Given the description of an element on the screen output the (x, y) to click on. 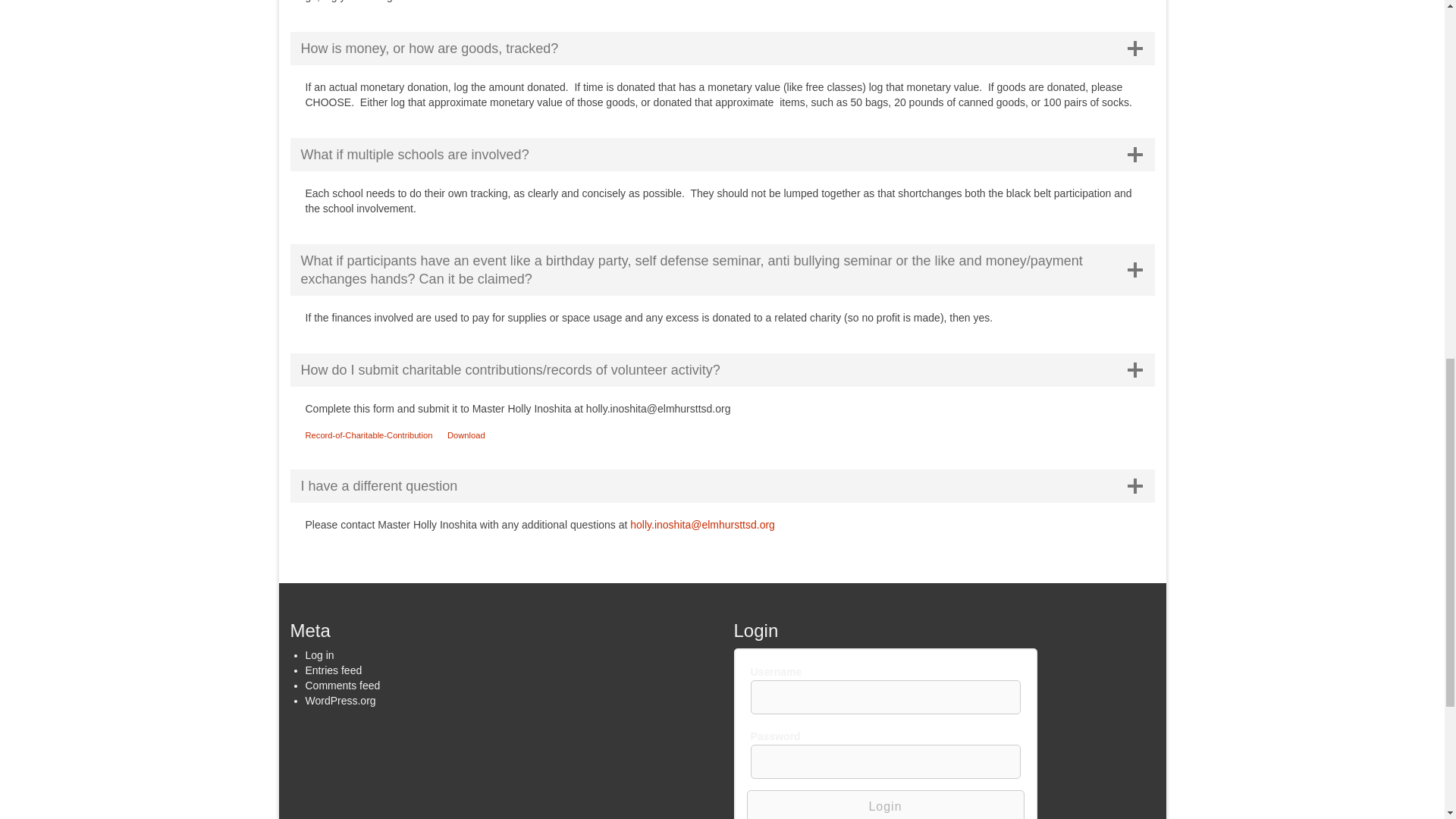
Login (884, 804)
Please enter password (885, 761)
Please enter username (885, 697)
